Given the description of an element on the screen output the (x, y) to click on. 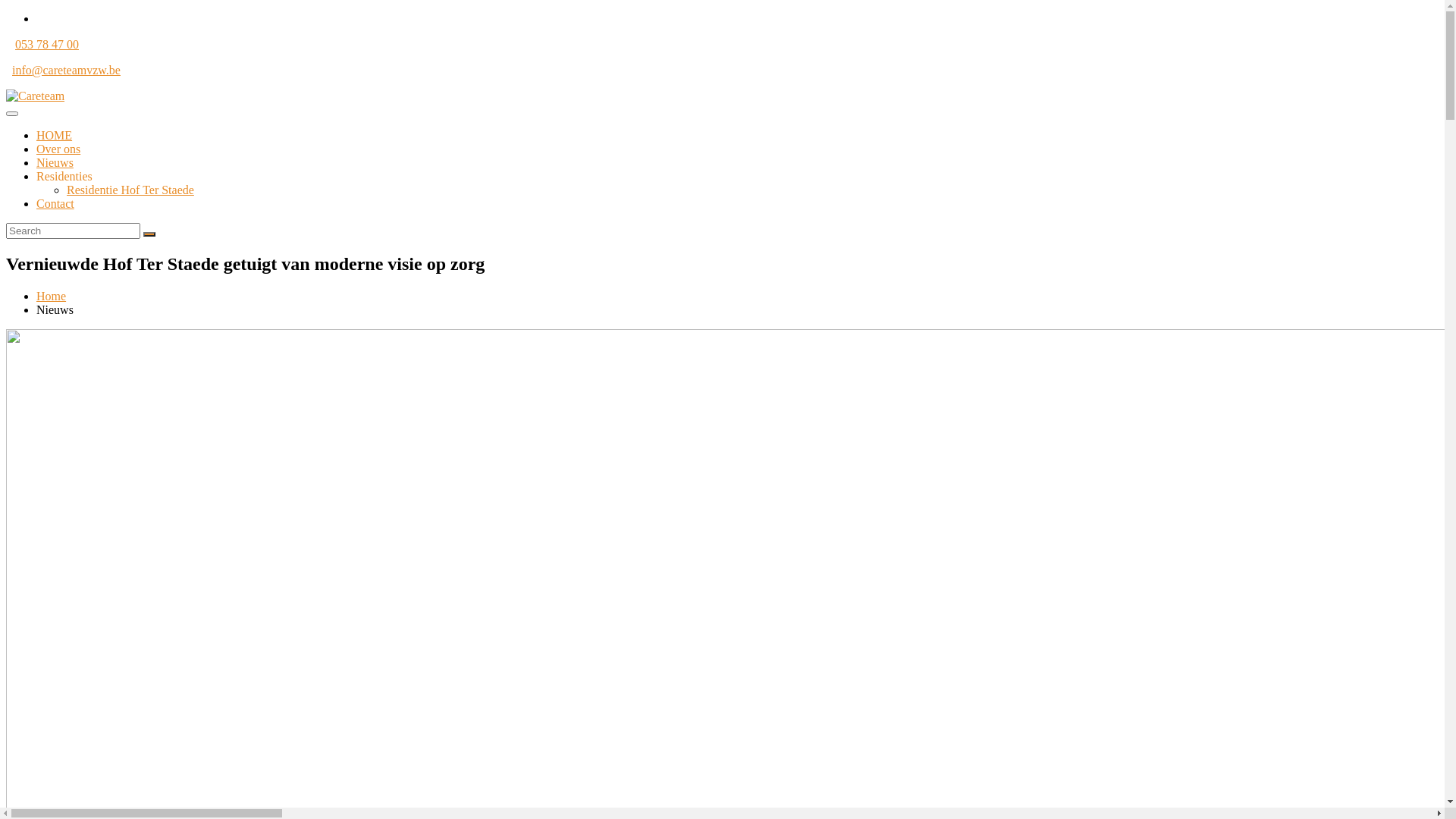
Home Element type: text (50, 295)
Contact Element type: text (55, 203)
Residentie Hof Ter Staede Element type: text (130, 189)
Nieuws Element type: text (54, 162)
053 78 47 00 Element type: text (46, 43)
Residenties Element type: text (64, 175)
HOME Element type: text (54, 134)
info@careteamvzw.be Element type: text (66, 69)
Over ons Element type: text (58, 148)
